Given the description of an element on the screen output the (x, y) to click on. 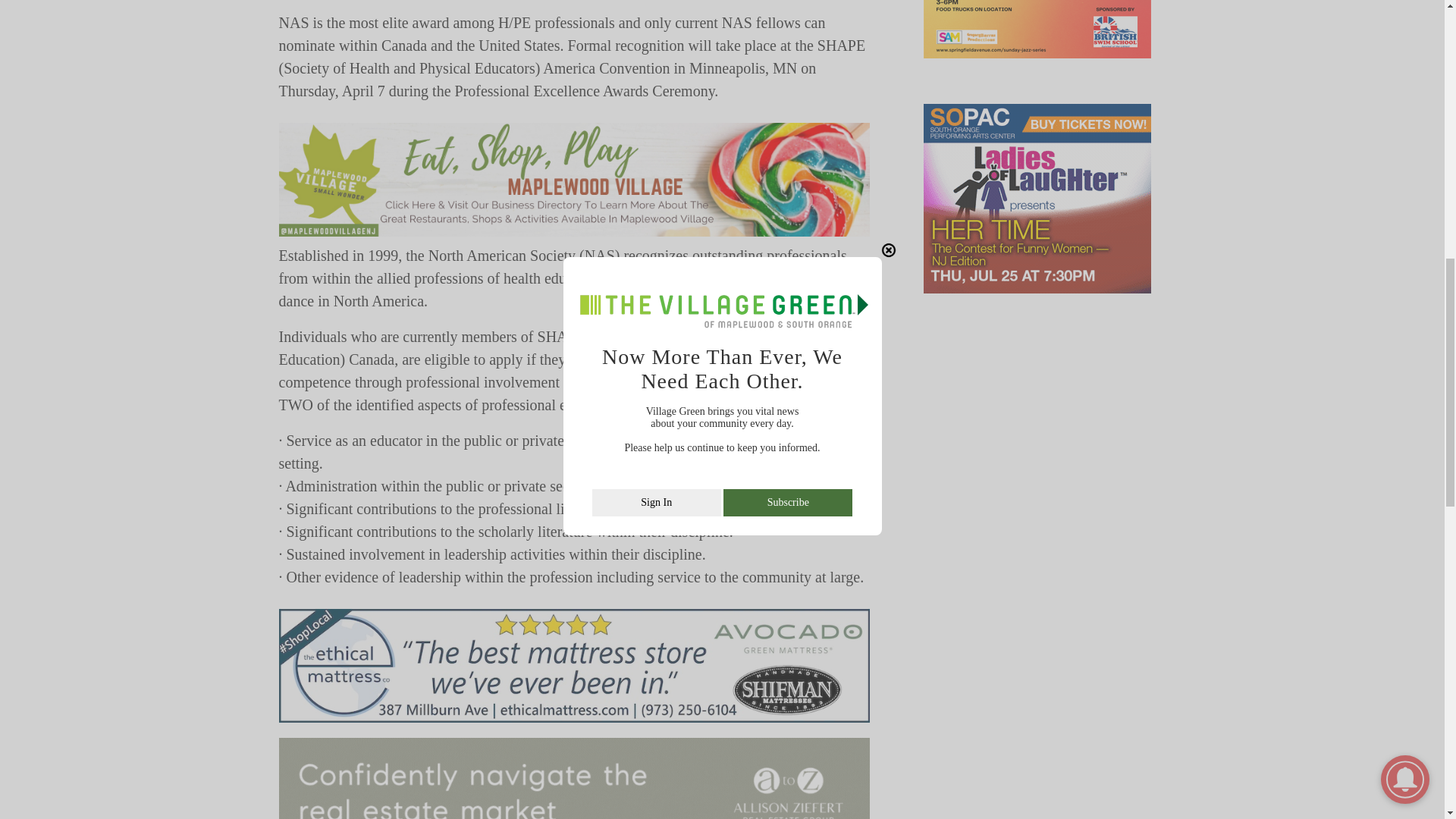
Eat, Shop, Play (574, 179)
new in-story ad -- AVOCADO (574, 665)
